Given the description of an element on the screen output the (x, y) to click on. 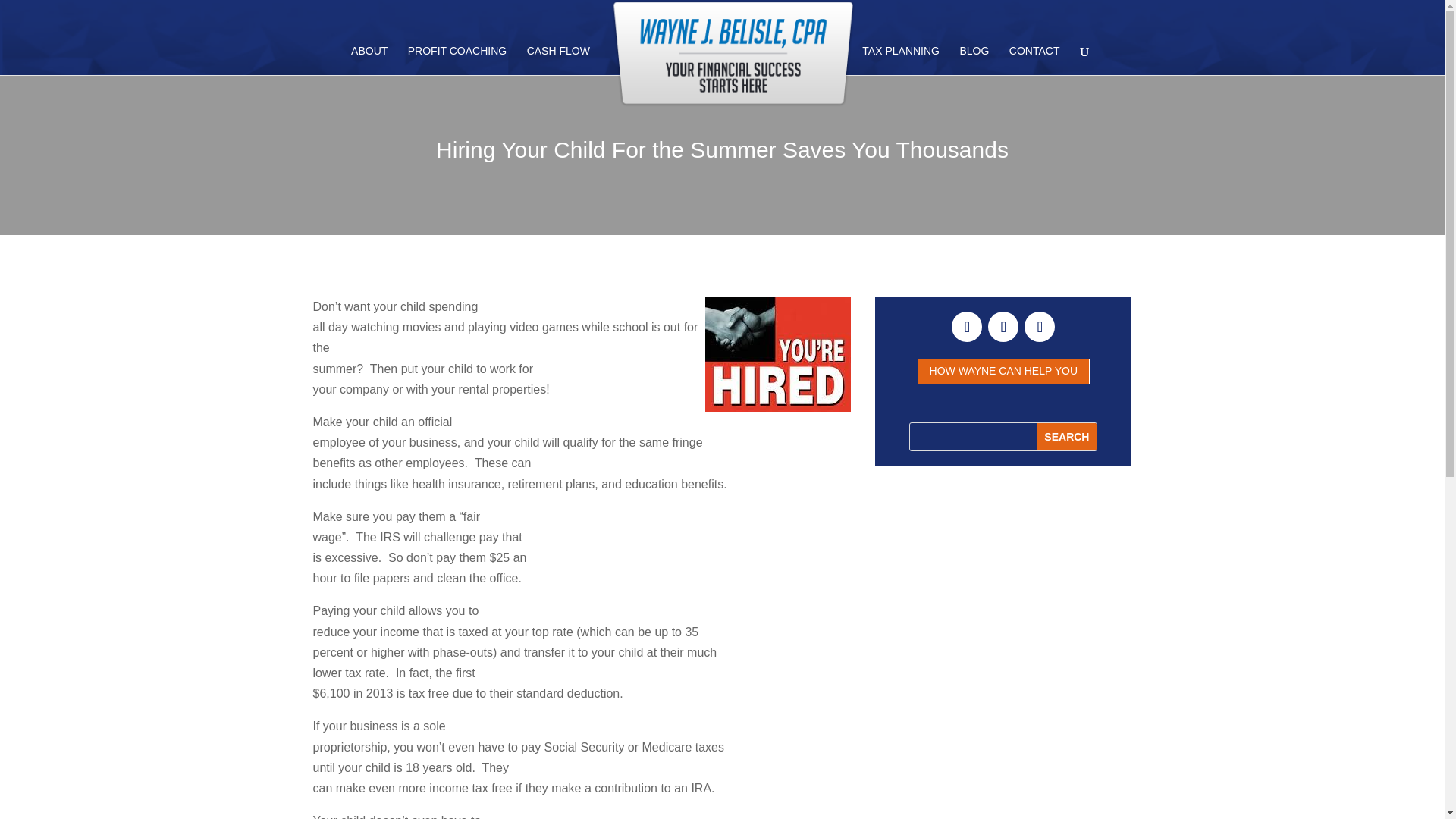
TAX PLANNING (900, 60)
Hired (777, 353)
Search (1066, 436)
CASH FLOW (558, 60)
HOW WAYNE CAN HELP YOU (1003, 371)
CONTACT (1034, 60)
Search (1066, 436)
BLOG (973, 60)
Follow on Facebook (966, 327)
Follow on LinkedIn (1002, 327)
ABOUT (368, 60)
PROFIT COACHING (456, 60)
Search (1066, 436)
Follow on Youtube (1039, 327)
